Given the description of an element on the screen output the (x, y) to click on. 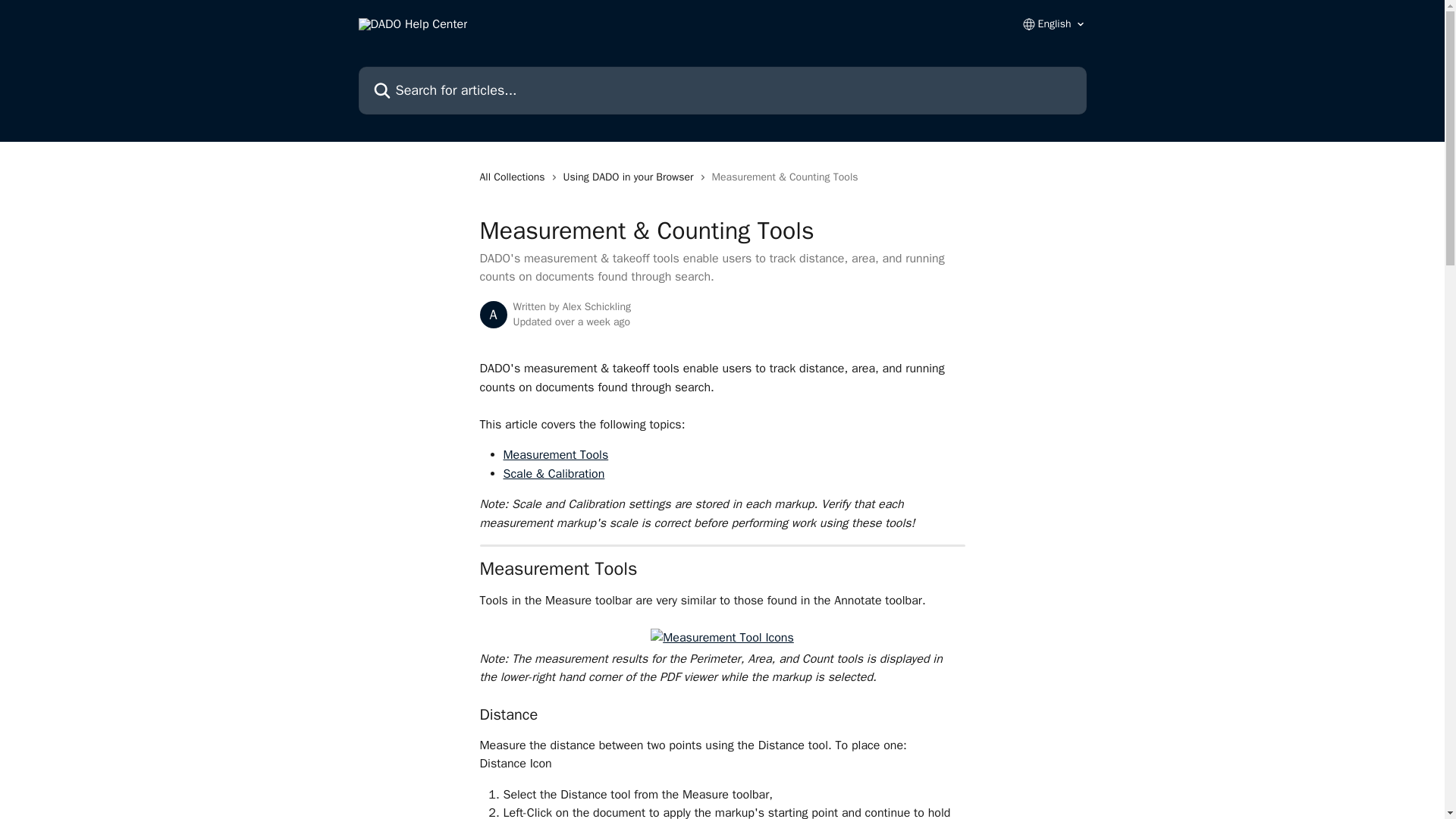
Measurement Tools (555, 454)
Using DADO in your Browser (631, 176)
All Collections (514, 176)
